Given the description of an element on the screen output the (x, y) to click on. 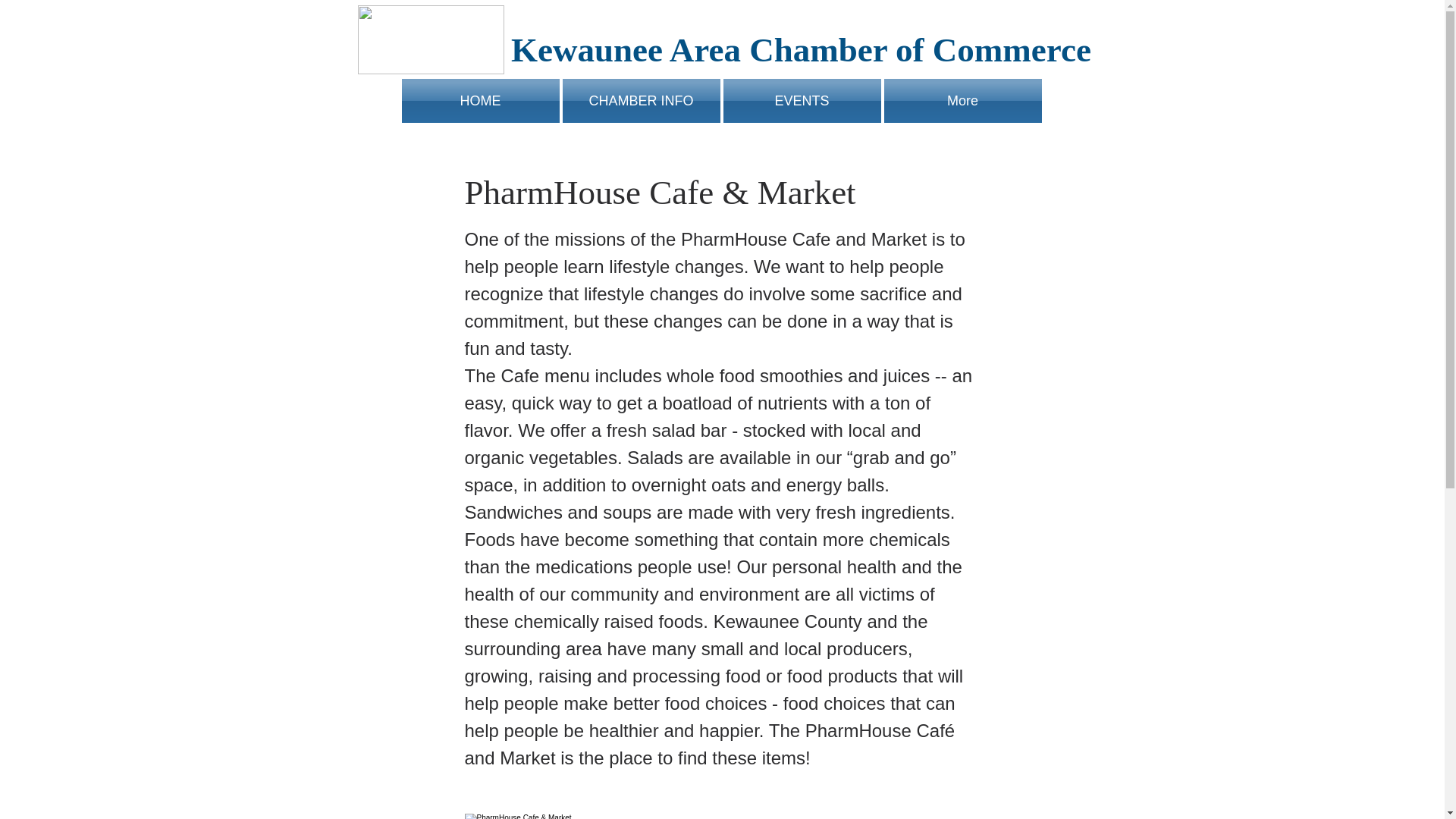
HOME (480, 100)
Kewaunee Area Chamber of Commerce (800, 49)
CHAMBER INFO (641, 100)
logo.png (430, 39)
EVENTS (802, 100)
